Given the description of an element on the screen output the (x, y) to click on. 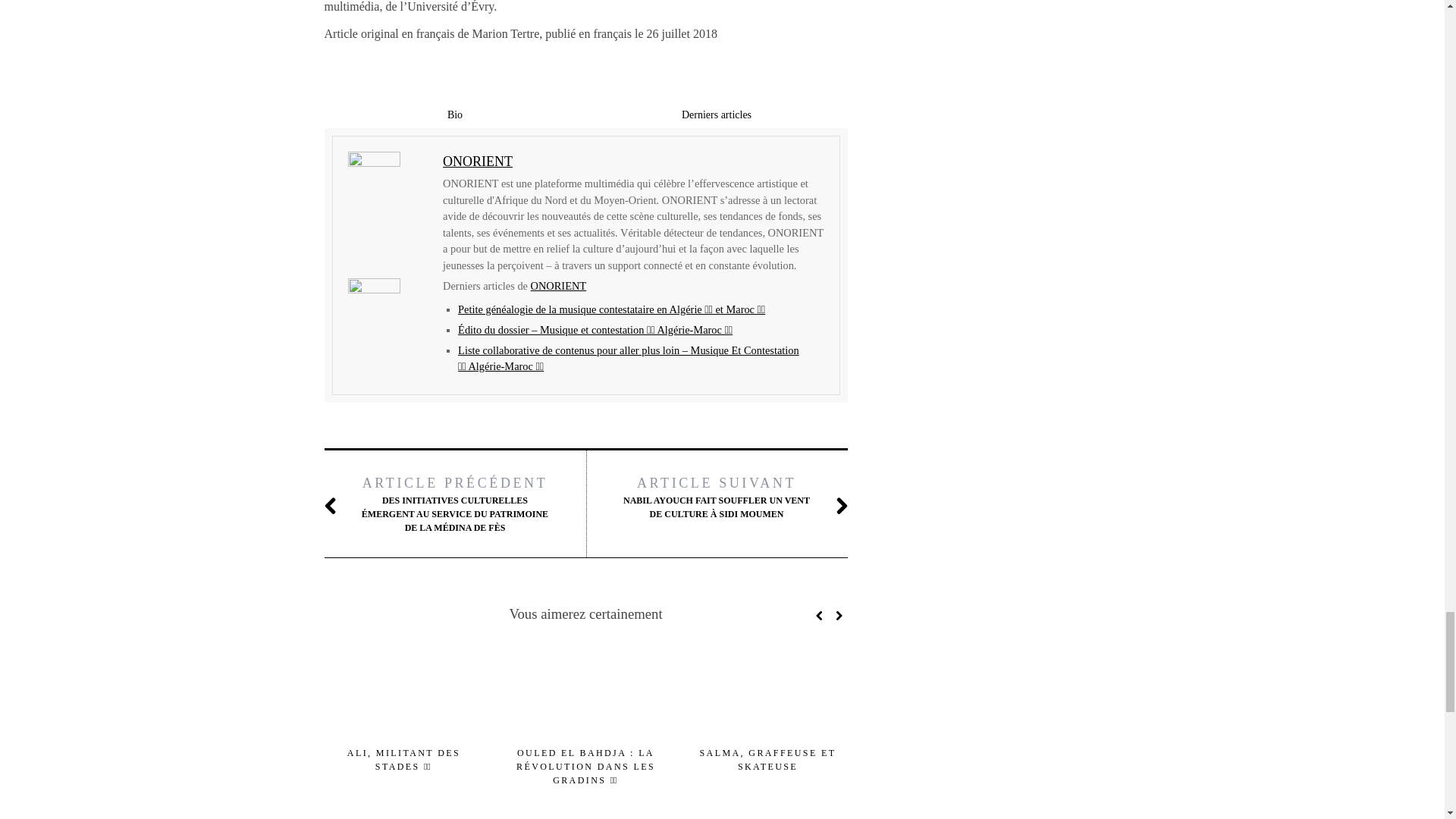
ONORIENT (558, 285)
Bio (455, 114)
ONORIENT (477, 160)
Derniers articles (716, 114)
